Given the description of an element on the screen output the (x, y) to click on. 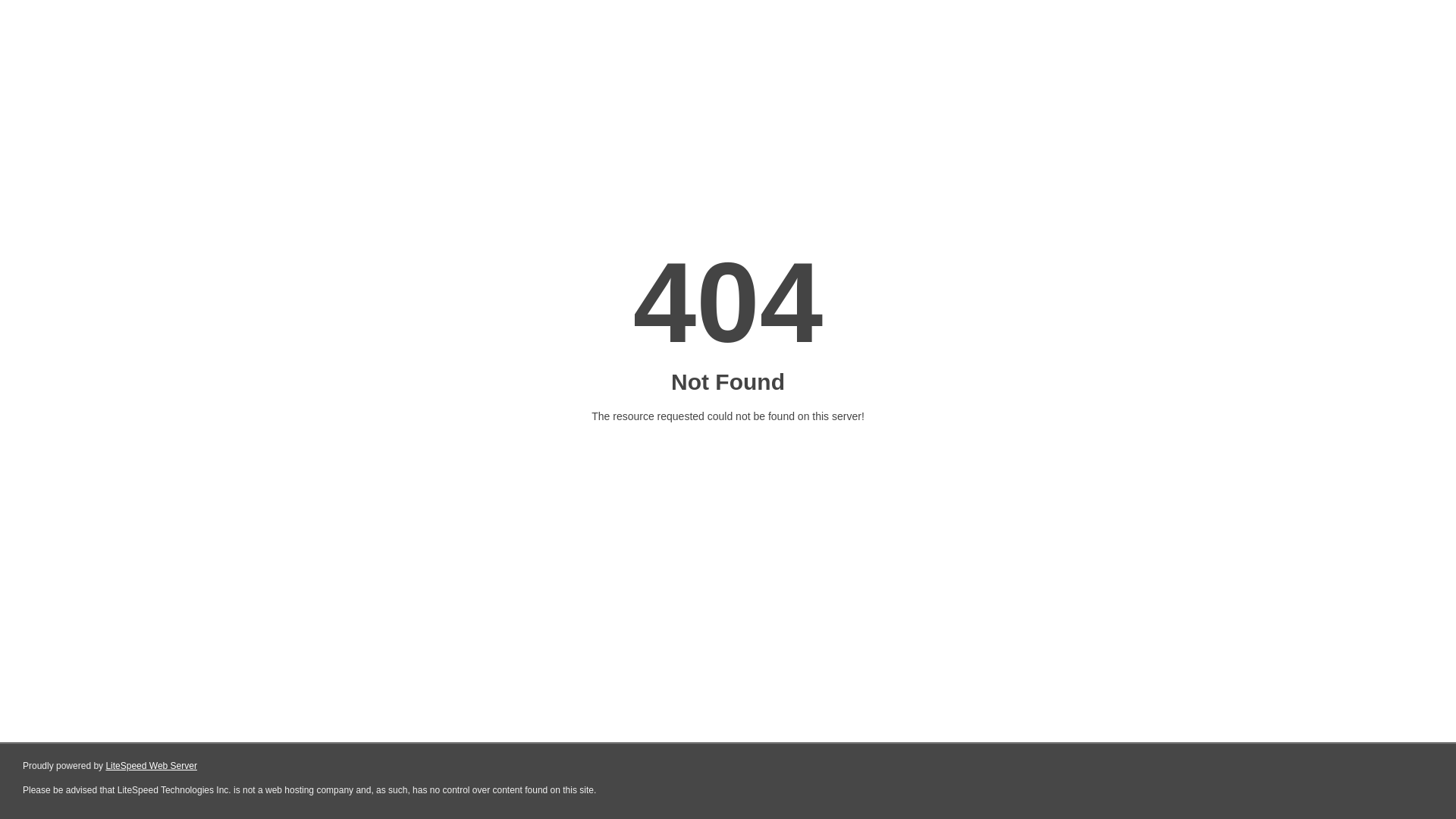
LiteSpeed Web Server Element type: text (151, 765)
